Given the description of an element on the screen output the (x, y) to click on. 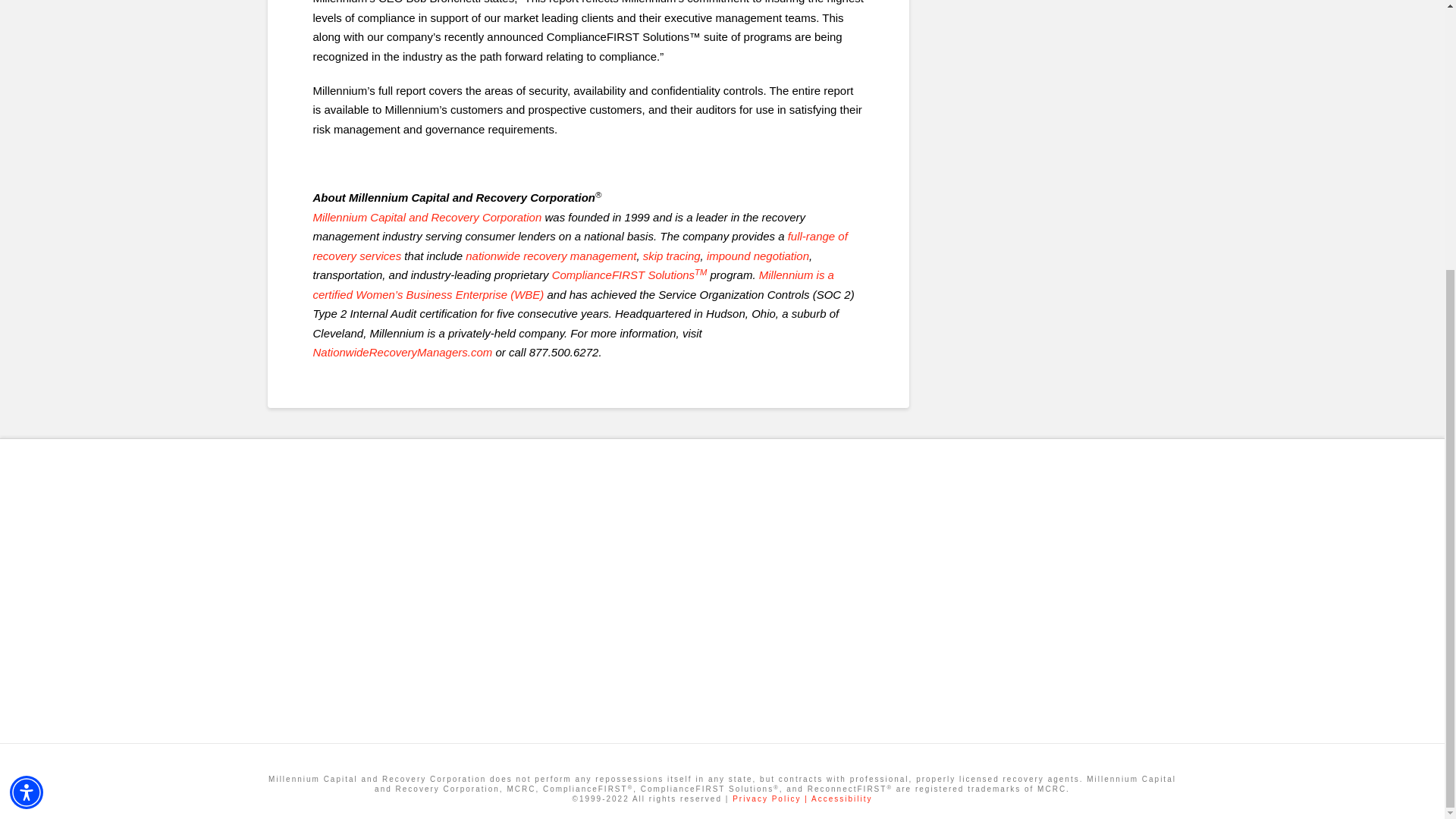
Accessibility Menu (26, 397)
Privacy Policy (771, 798)
Millennium Nationwide Recovery Managers Accessibility (841, 798)
